Given the description of an element on the screen output the (x, y) to click on. 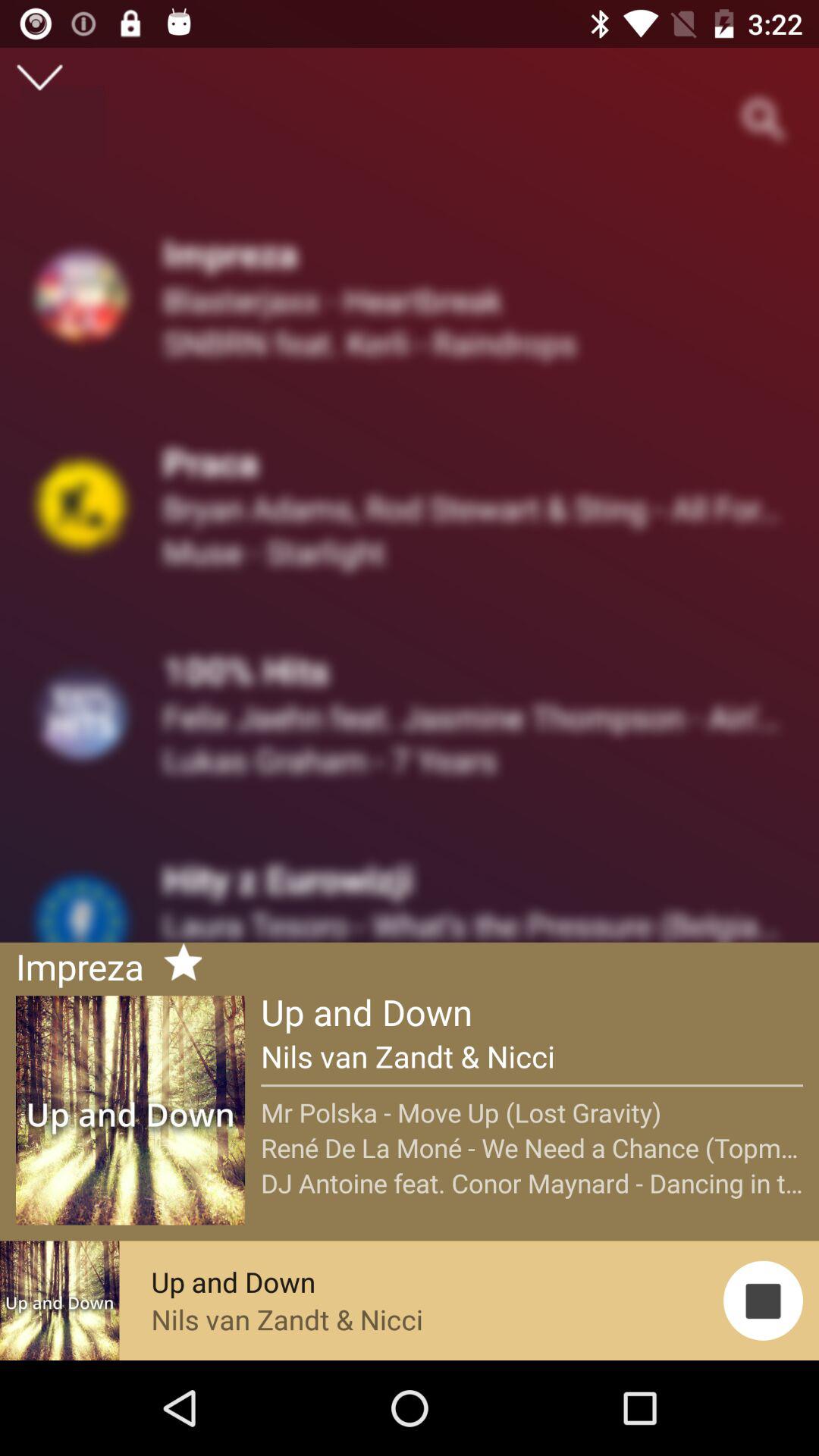
press the icon at the top left corner (39, 77)
